Given the description of an element on the screen output the (x, y) to click on. 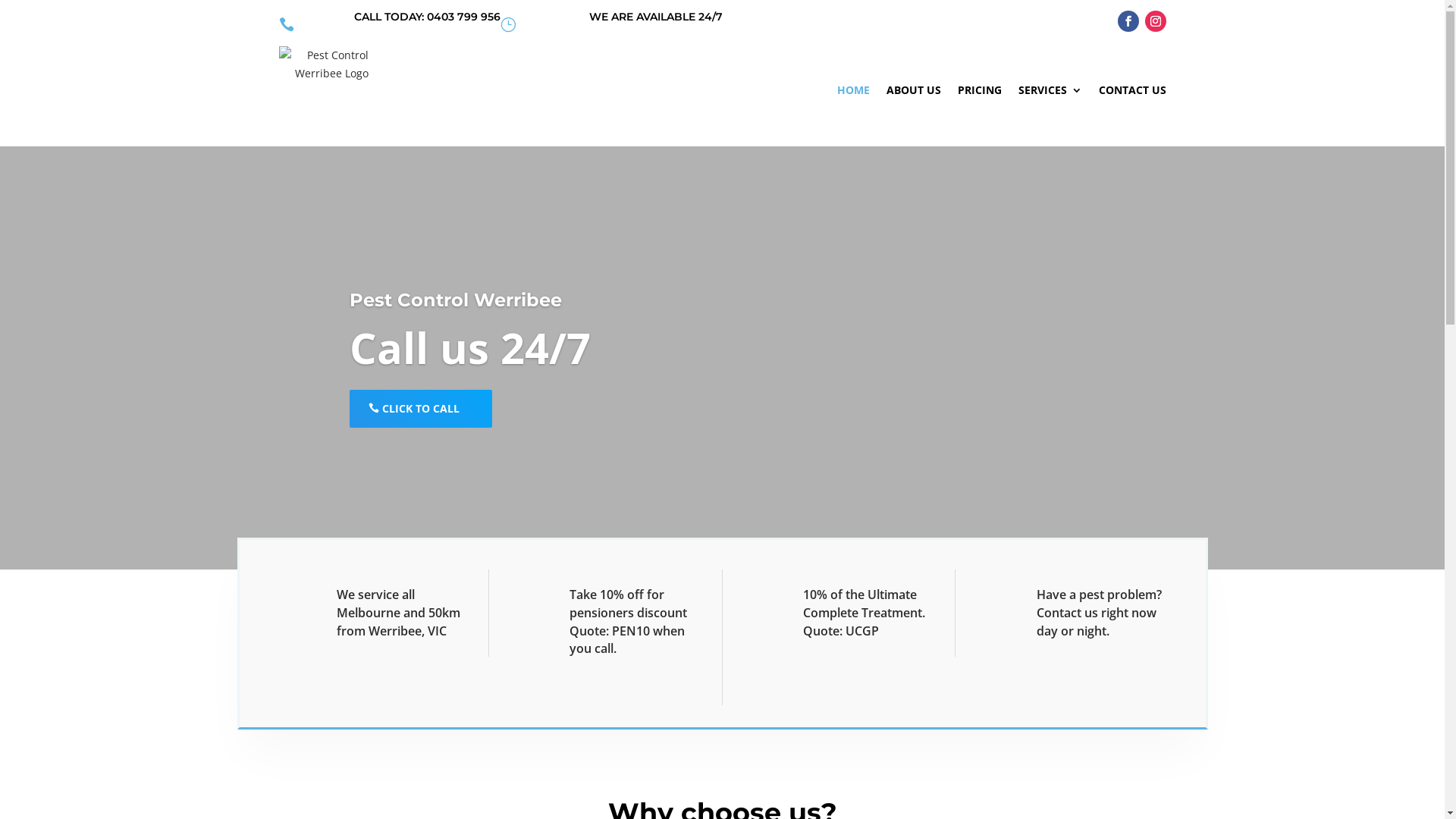
Pest Control Werribee Element type: text (455, 299)
PRICING Element type: text (979, 90)
CONTACT US Element type: text (1131, 90)
Follow on Instagram Element type: hover (1155, 20)
SERVICES Element type: text (1049, 90)
CLICK TO CALL Element type: text (420, 408)
Follow on Facebook Element type: hover (1128, 20)
HOME Element type: text (853, 90)
ABOUT US Element type: text (912, 90)
CALL TODAY: 0403 799 956 Element type: text (427, 16)
